Given the description of an element on the screen output the (x, y) to click on. 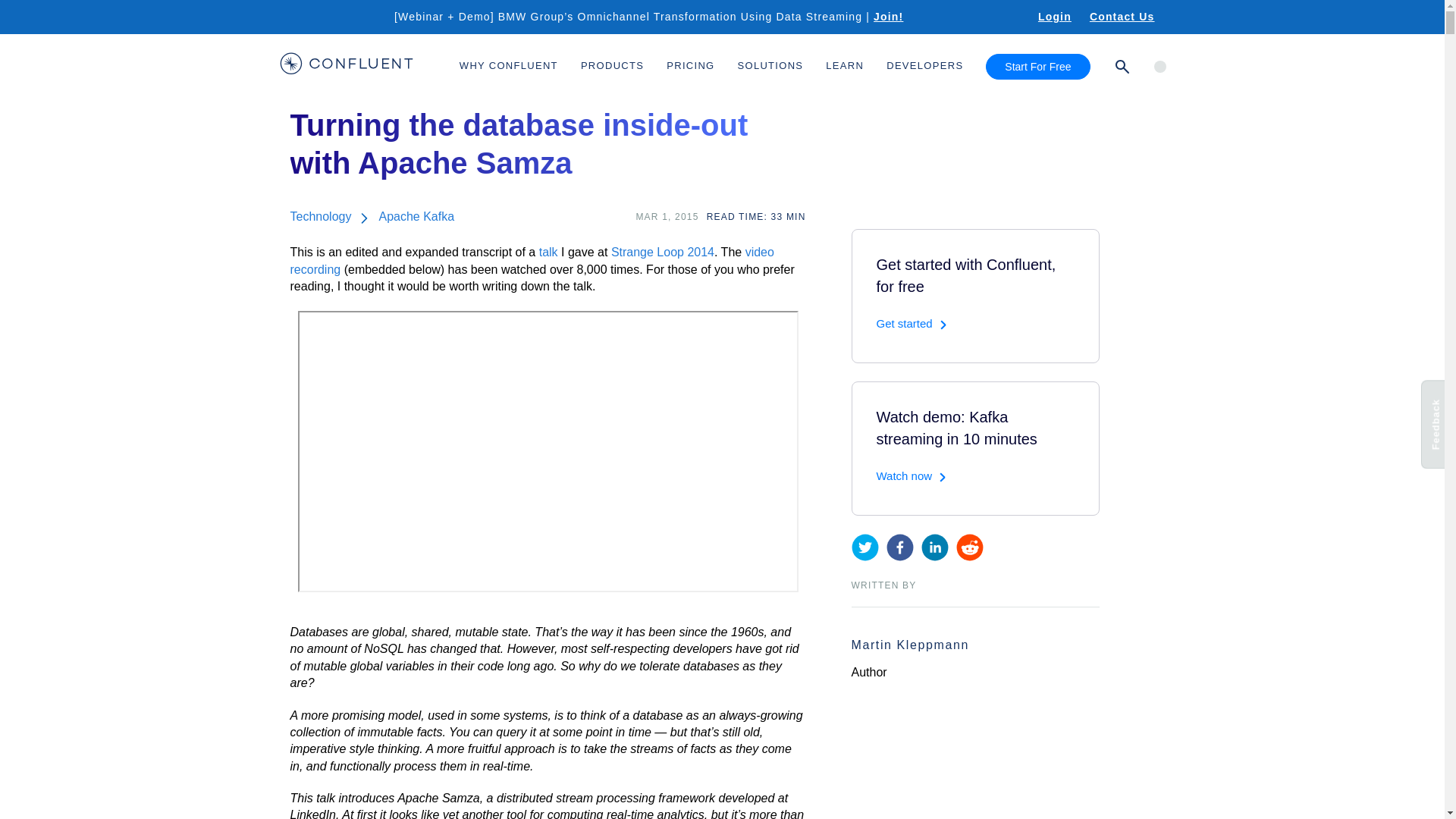
View all posts by Martin Kleppmann (909, 645)
Contact Us (1121, 16)
Confluent (346, 65)
Login (1054, 16)
Join! (897, 16)
